Given the description of an element on the screen output the (x, y) to click on. 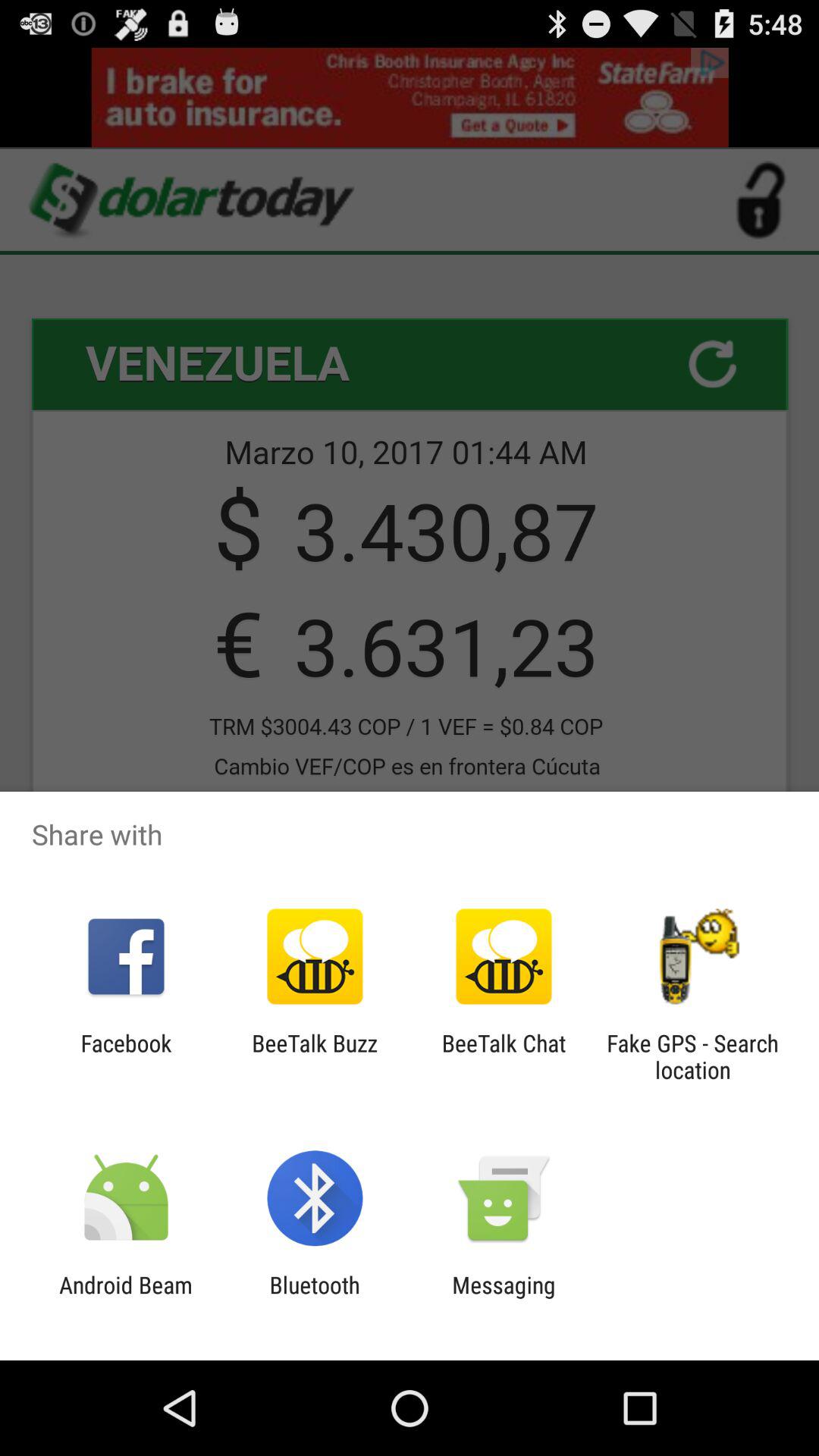
swipe to fake gps search icon (692, 1056)
